Given the description of an element on the screen output the (x, y) to click on. 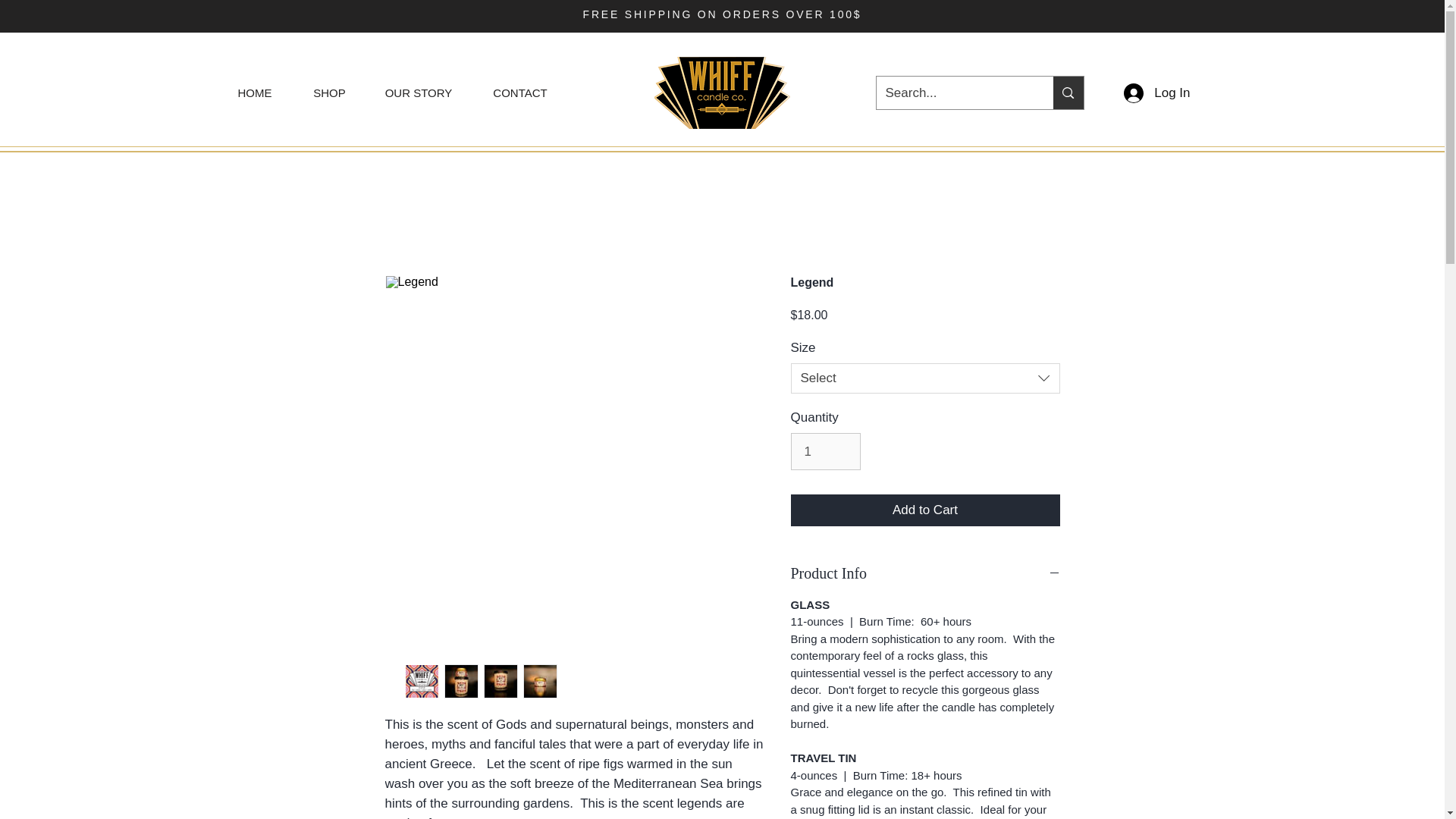
CONTACT (520, 92)
Product Info (924, 572)
SHOP (328, 92)
HOME (255, 92)
OUR STORY (417, 92)
Add to Cart (924, 510)
1 (825, 451)
Log In (1156, 92)
Select (924, 378)
